Given the description of an element on the screen output the (x, y) to click on. 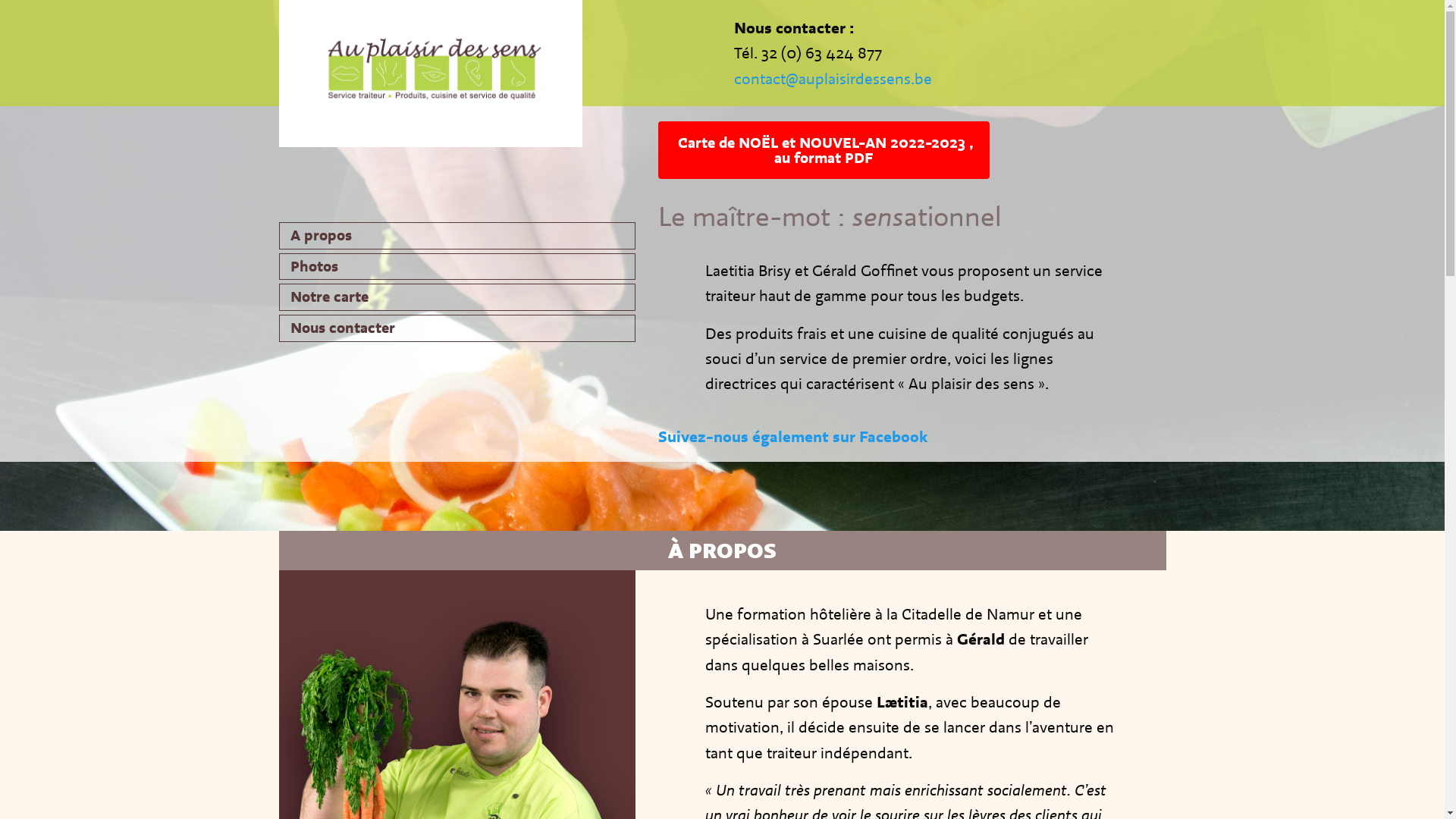
Notre carte Element type: text (457, 296)
Nous contacter Element type: text (457, 328)
Photos Element type: text (457, 266)
A propos Element type: text (457, 235)
contact@auplaisirdessens.be Element type: text (832, 78)
